Given the description of an element on the screen output the (x, y) to click on. 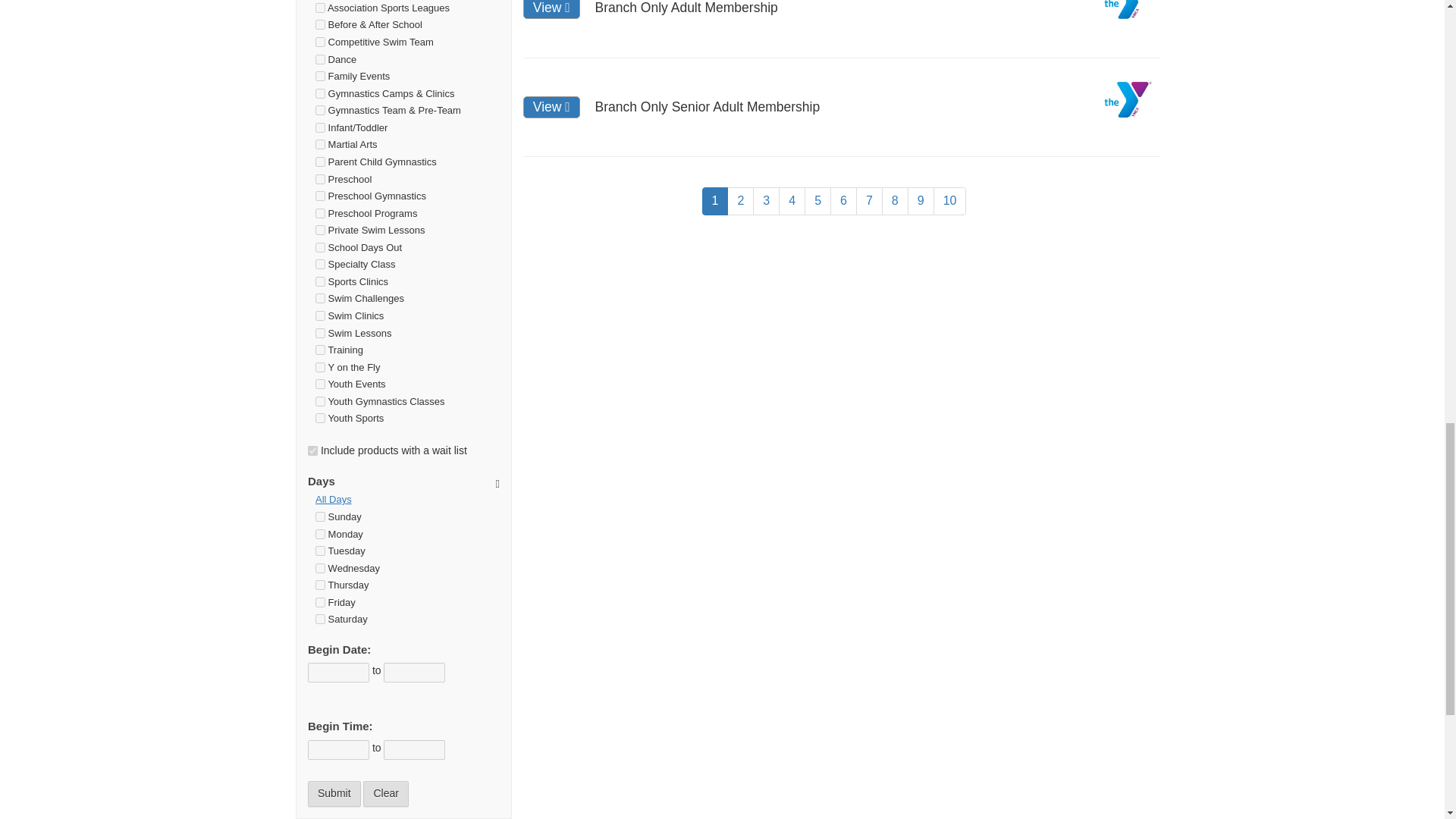
All Days (407, 499)
